Given the description of an element on the screen output the (x, y) to click on. 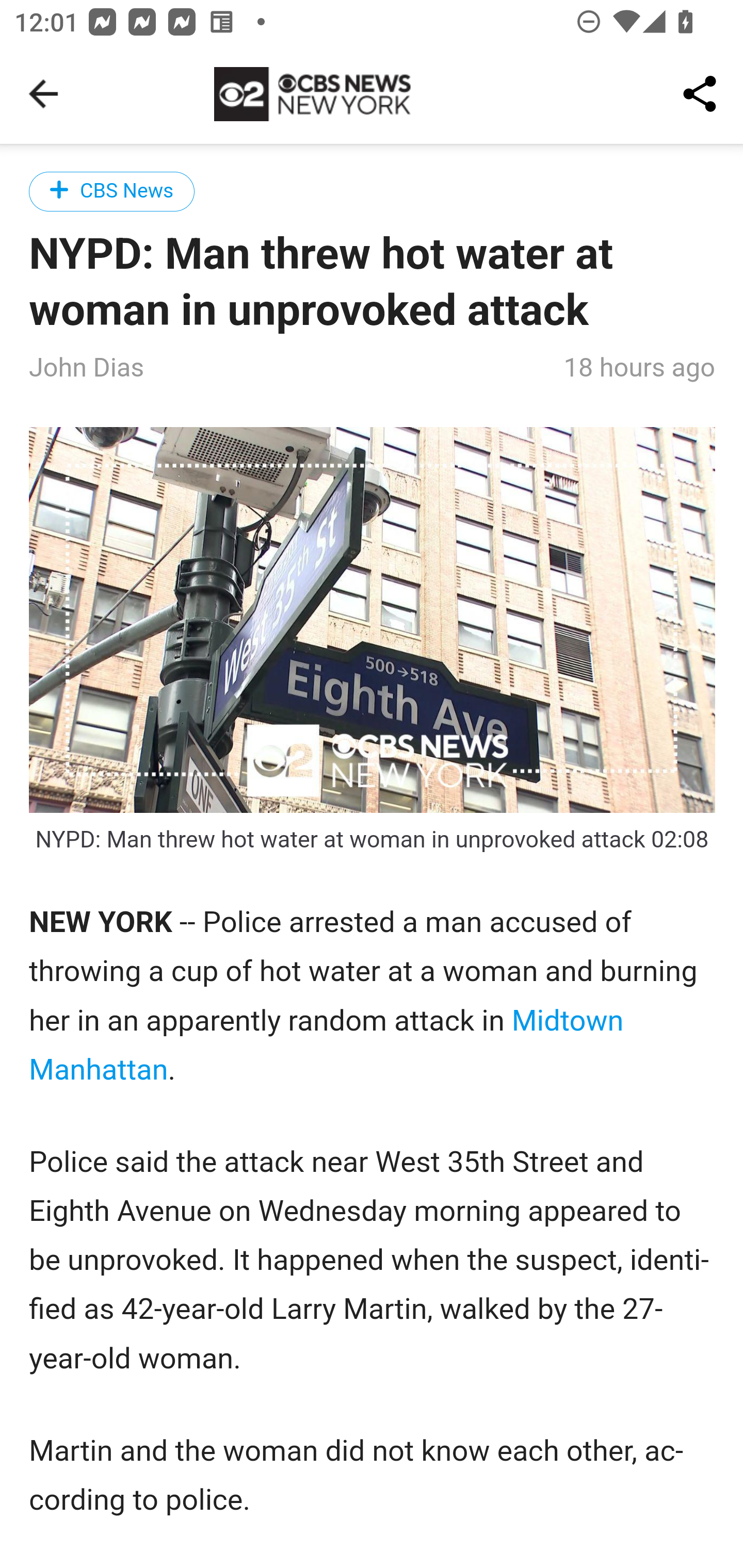
CBS News (112, 191)
5692ce05b28aa257bbb148de583593b3 (372, 619)
Midtown Manhattan (326, 1045)
